Given the description of an element on the screen output the (x, y) to click on. 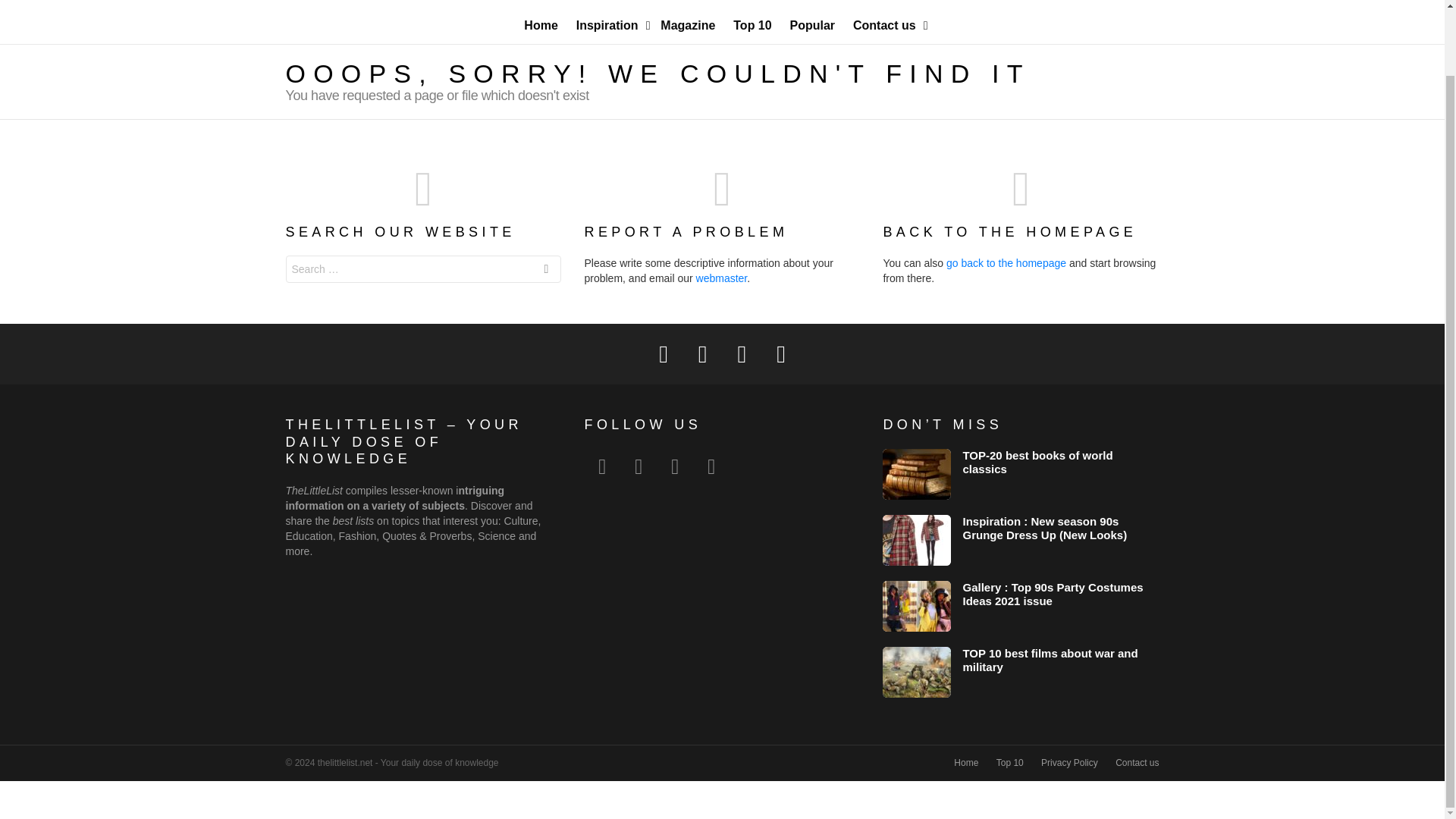
tumblr (711, 466)
webmaster (721, 277)
TOP 10 best films about war and military (1049, 660)
Search (545, 270)
Gallery : Top 90s Party Costumes Ideas 2021 issue (916, 605)
Search for: (422, 268)
Contact us (886, 25)
Home (965, 763)
Popular (813, 25)
pinterest (674, 466)
Home (540, 25)
go back to the homepage (1005, 263)
flickr (638, 466)
TOP 10 best films about war and military (916, 672)
Magazine (687, 25)
